Given the description of an element on the screen output the (x, y) to click on. 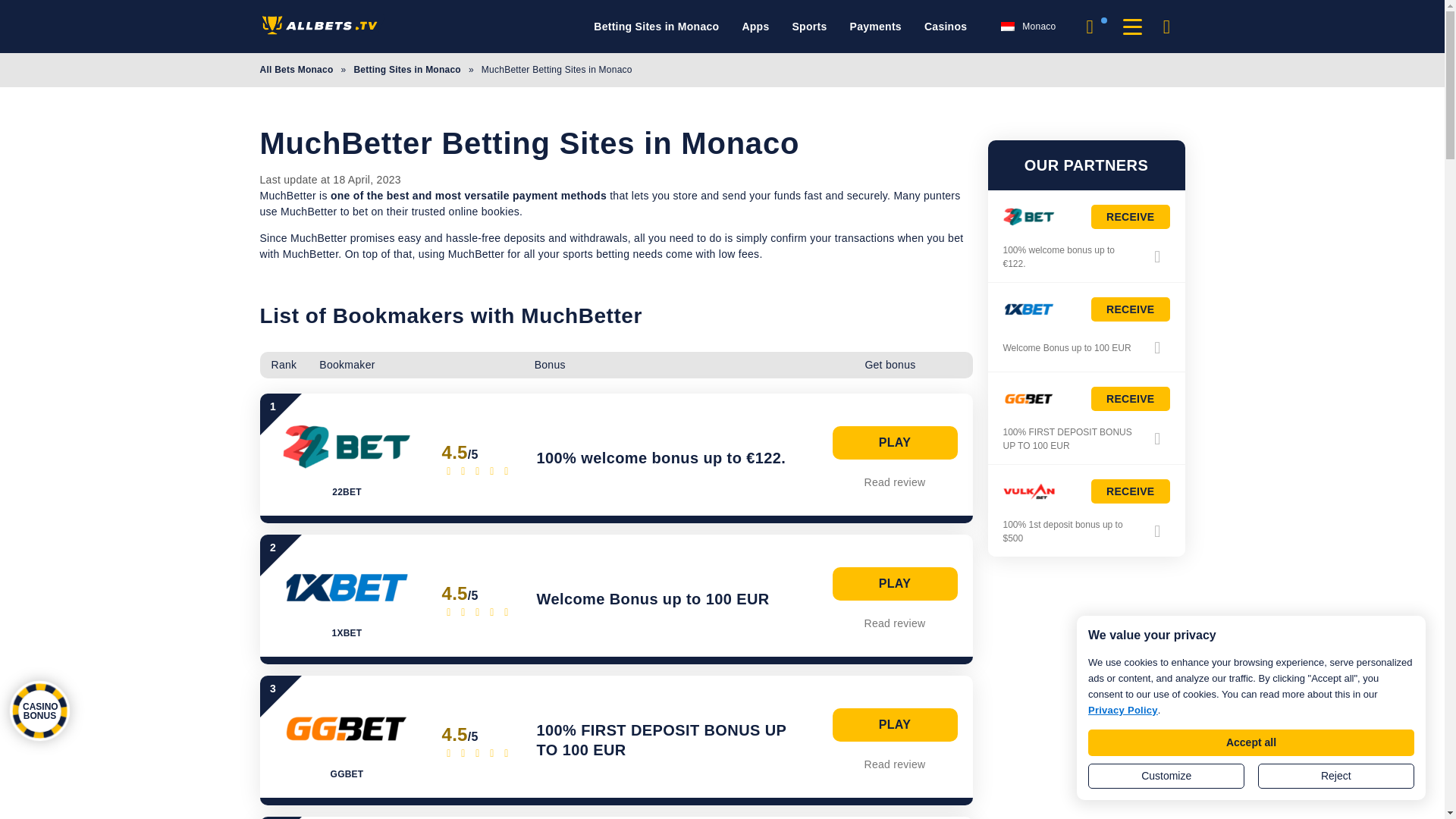
Payments (875, 26)
Sports (809, 26)
Betting Sites in Monaco (656, 26)
Casinos (945, 26)
